Given the description of an element on the screen output the (x, y) to click on. 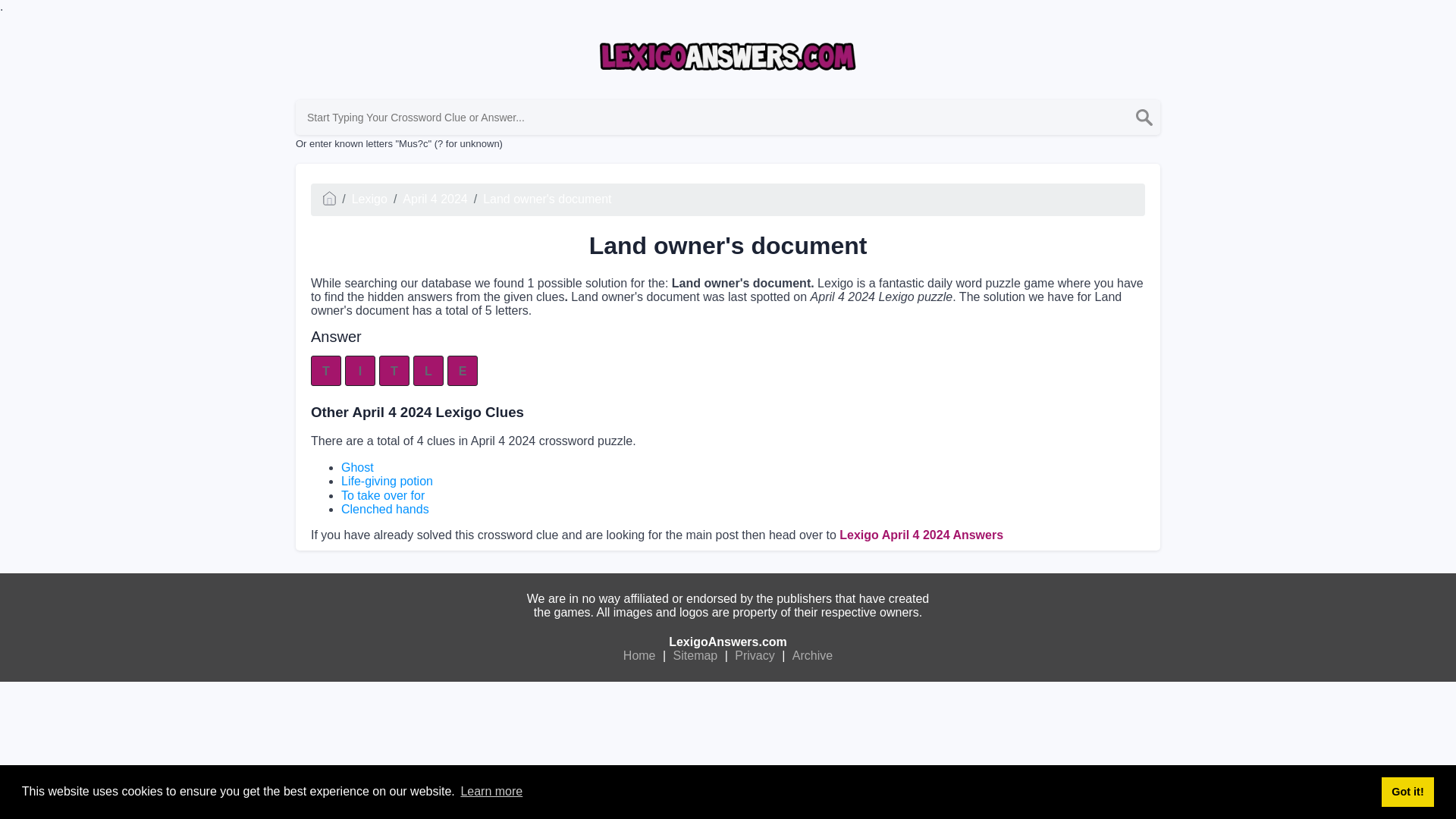
Archive (812, 655)
Privacy (753, 655)
Life-giving potion (386, 481)
Home (639, 655)
To take over for (382, 495)
LexigoAnswers.com (727, 641)
Lexigo (369, 198)
Ghost (357, 467)
April 4 2024 (435, 198)
Sitemap (695, 655)
Lexigo April 4 2024 Answers (921, 534)
Clenched hands (384, 508)
Land owner's document (547, 198)
